Given the description of an element on the screen output the (x, y) to click on. 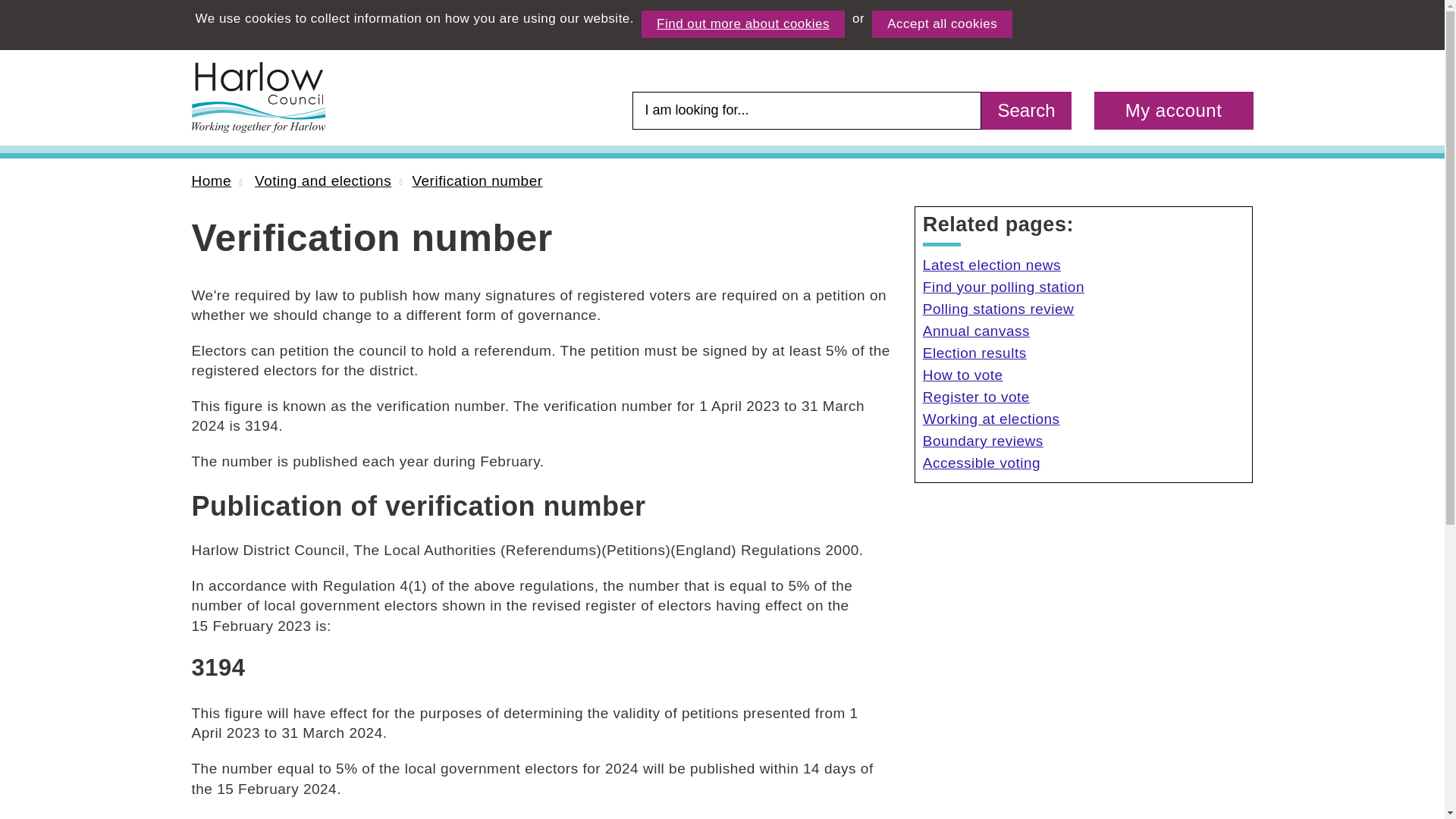
Election results (1083, 352)
How to vote (1083, 374)
Register to vote (1083, 396)
Voting and elections (322, 180)
Boundary reviews (1083, 440)
Home (210, 180)
Working at elections (1083, 418)
Home (257, 96)
Polling stations review (1083, 309)
